Given the description of an element on the screen output the (x, y) to click on. 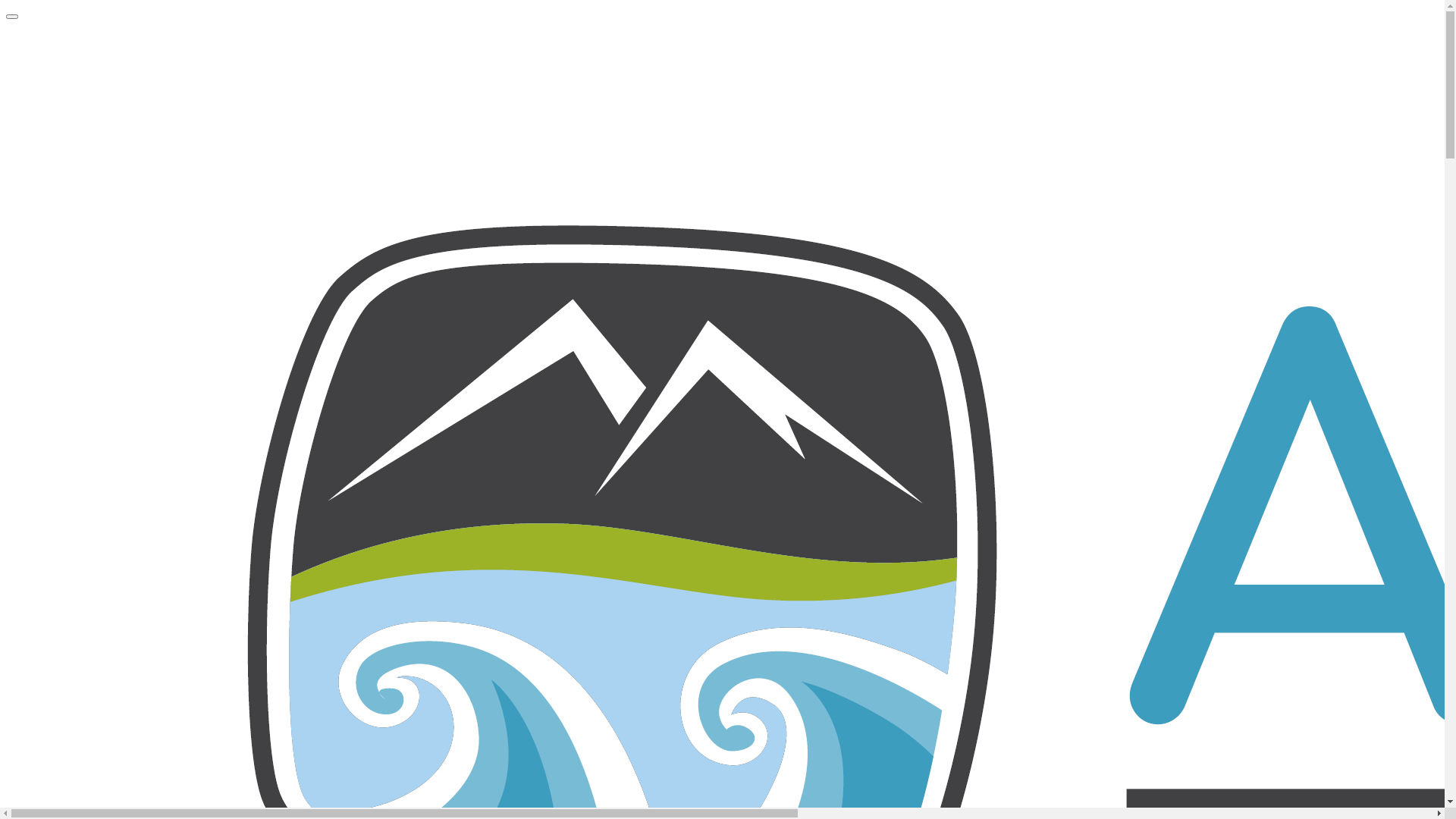
Skip to main content Element type: text (6, 6)
